Given the description of an element on the screen output the (x, y) to click on. 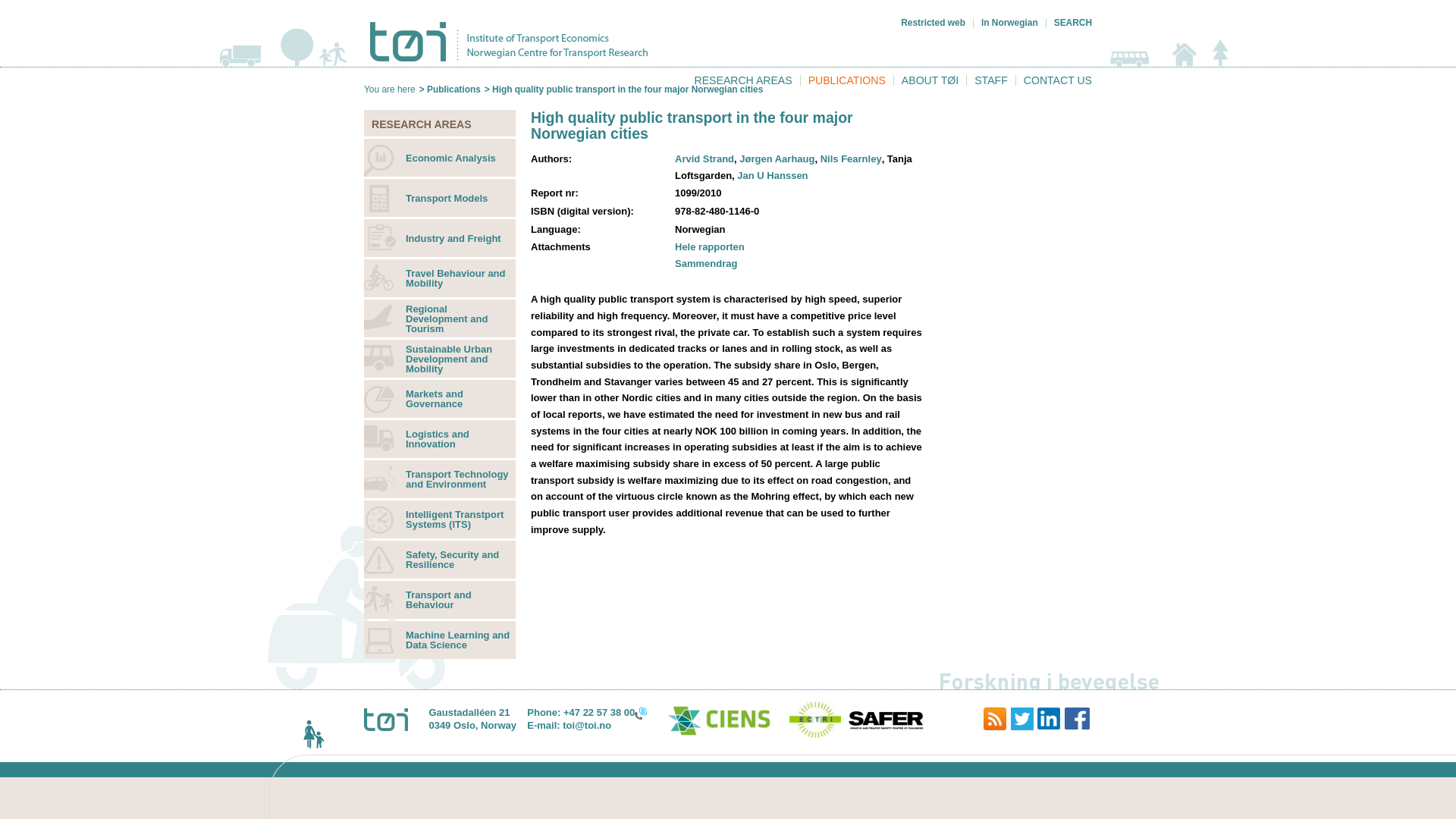
Sustainable Urban Development and Mobility (439, 358)
Industry and Freight (439, 238)
In Norwegian (1009, 22)
Sammendrag (705, 263)
Economic Analysis (439, 157)
Machine Learning and Data Science (439, 639)
CONTACT US (1057, 80)
STAFF (990, 80)
Markets and Governance (439, 398)
RESEARCH AREAS (743, 80)
